Given the description of an element on the screen output the (x, y) to click on. 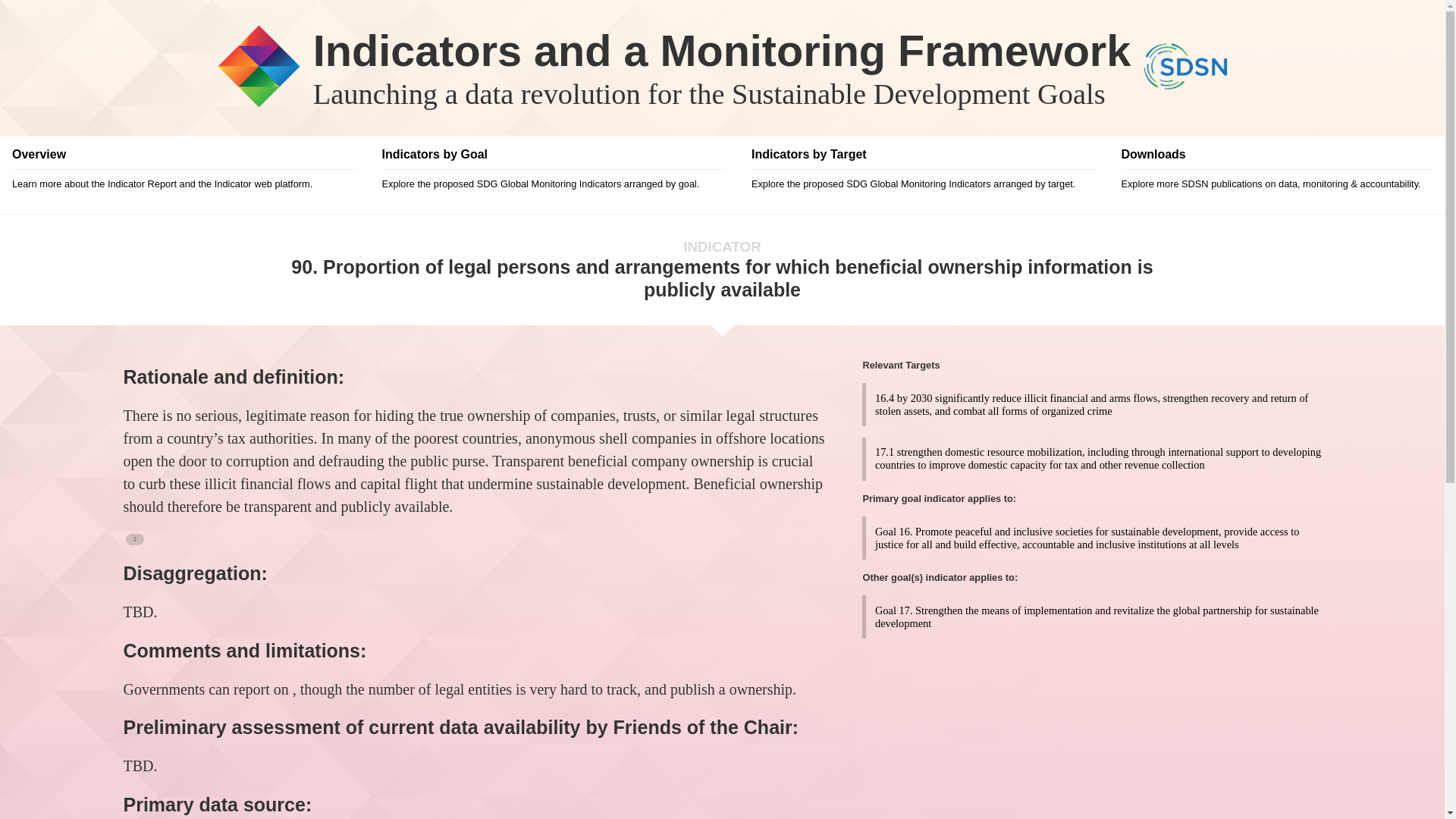
Indicators and a Monitoring Framework (722, 50)
